Given the description of an element on the screen output the (x, y) to click on. 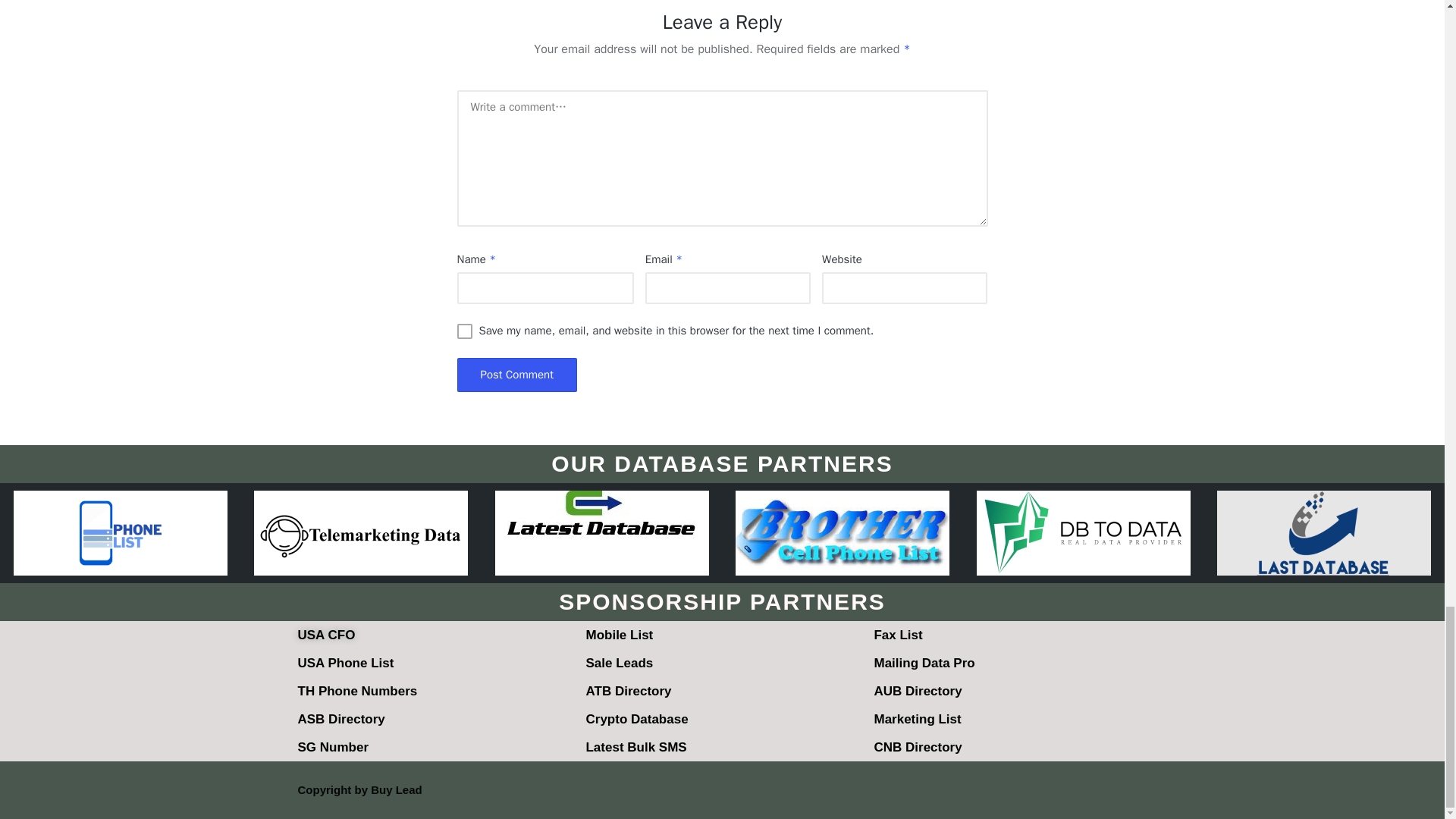
USA CFO (326, 635)
yes (464, 331)
ASB Directory (340, 718)
TH Phone Numbers (356, 690)
USA Phone List (345, 663)
Post Comment (516, 374)
Post Comment (516, 374)
